Given the description of an element on the screen output the (x, y) to click on. 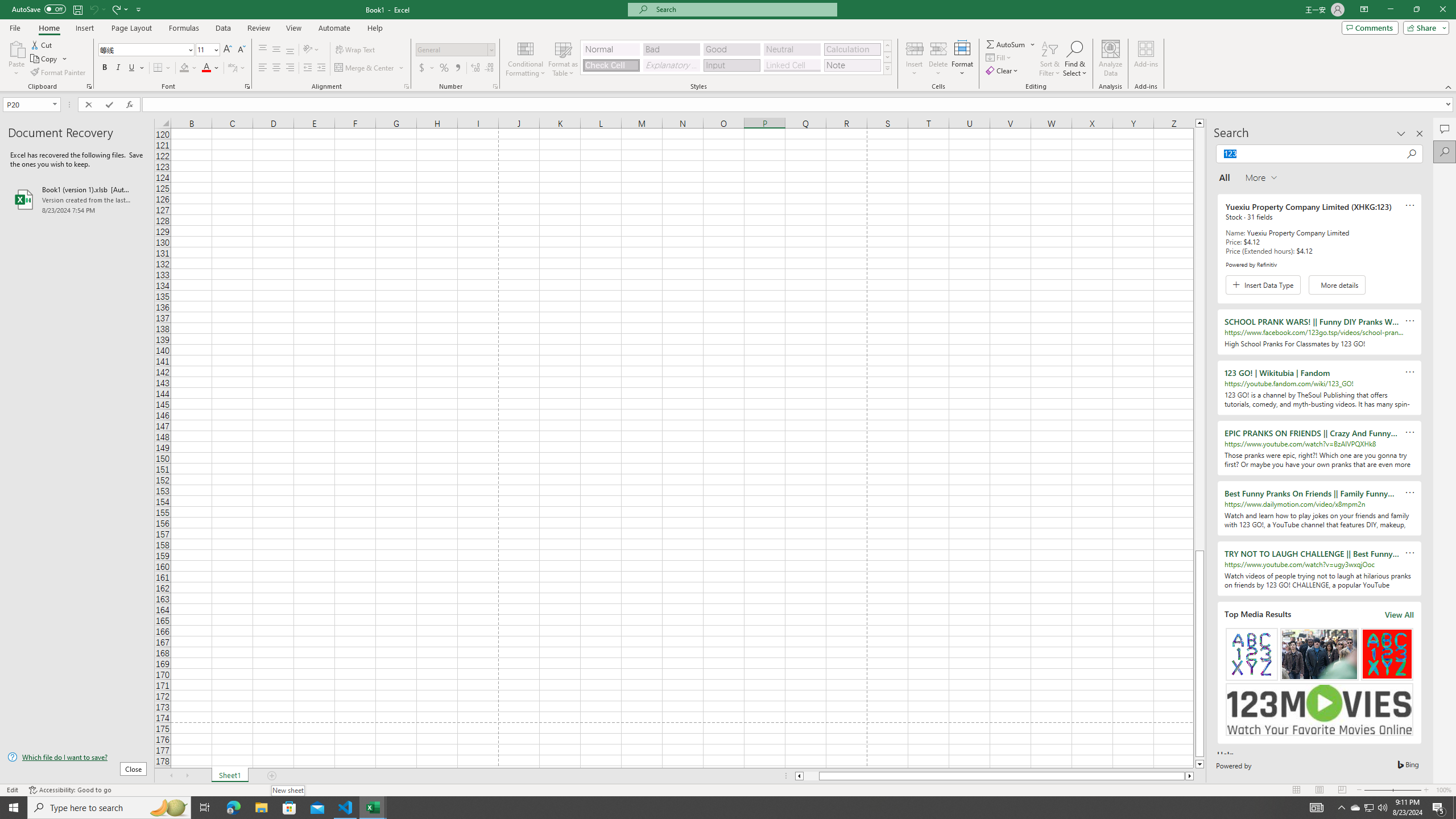
Format Cell Alignment (405, 85)
Orientation (311, 49)
Font Color RGB(255, 0, 0) (206, 67)
Font (142, 49)
Decrease Decimal (489, 67)
Font Size (207, 49)
Center (276, 67)
